Given the description of an element on the screen output the (x, y) to click on. 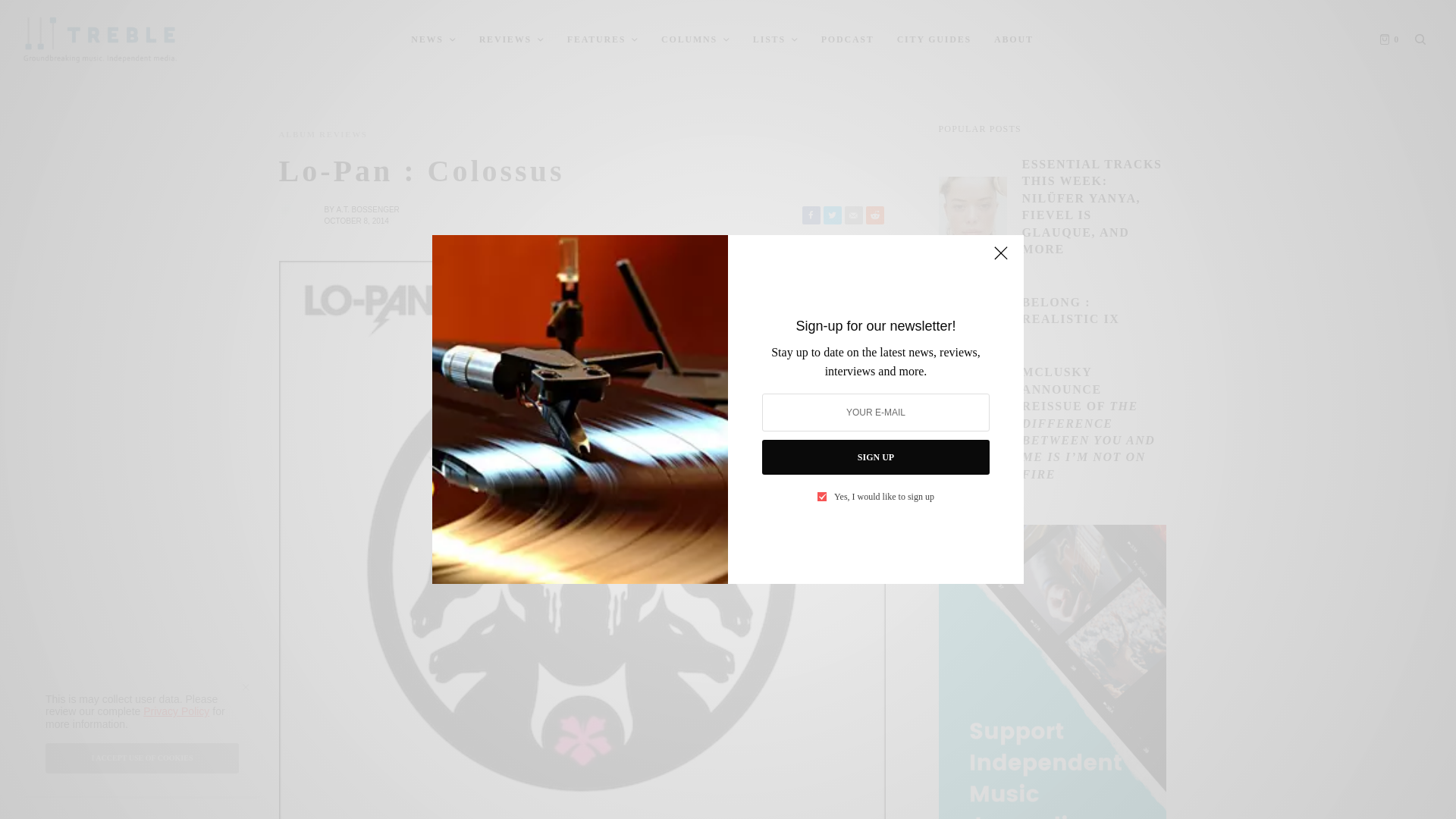
FEATURES (603, 39)
Treble (100, 39)
CITY GUIDES (933, 39)
A.T. BOSSENGER (367, 208)
SIGN UP (875, 457)
Belong : Realistic IX (1094, 311)
Posts by A.T. Bossenger (367, 208)
ALBUM REVIEWS (323, 134)
